Given the description of an element on the screen output the (x, y) to click on. 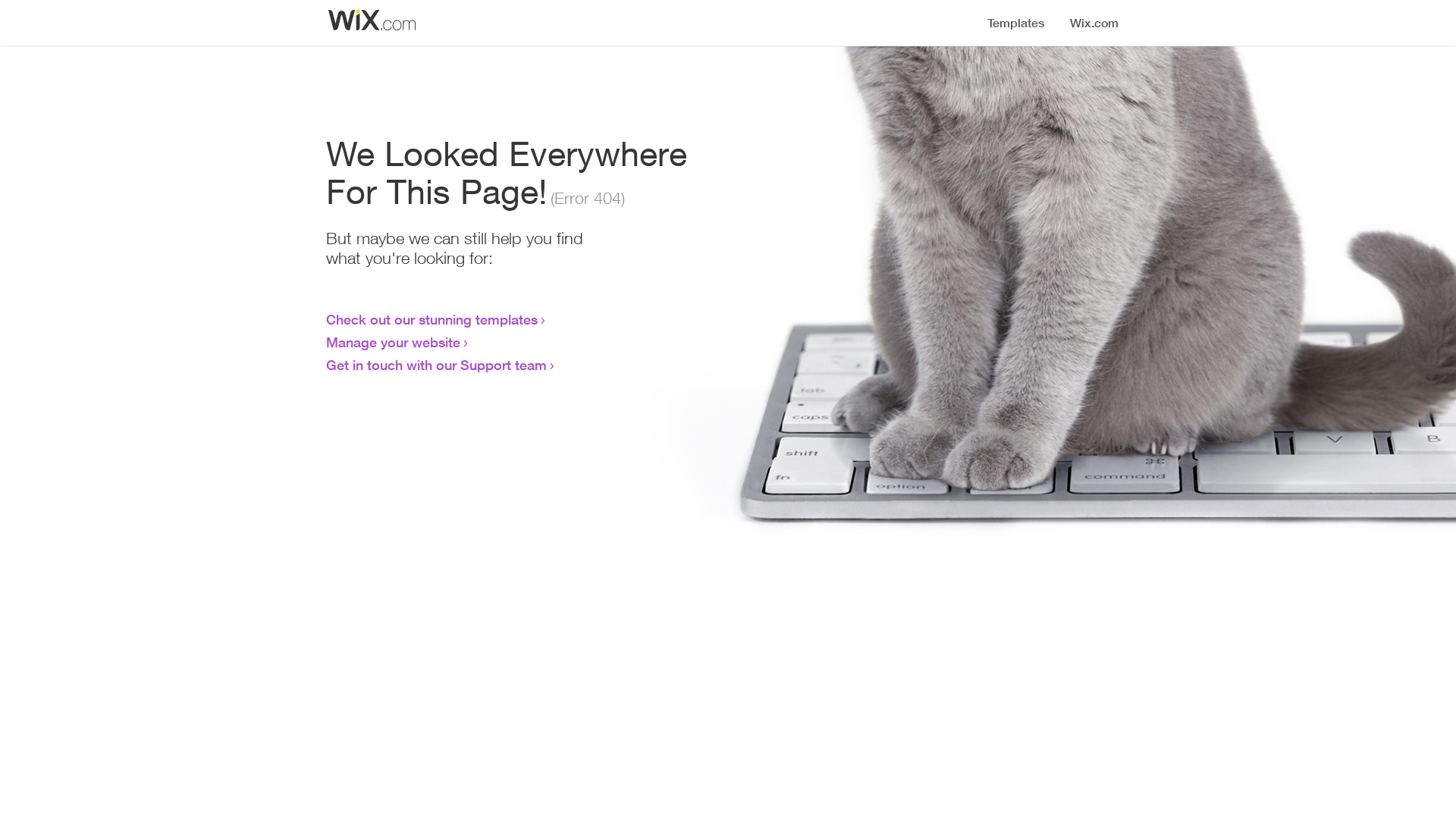
Check out our stunning templates Element type: text (431, 318)
Manage your website Element type: text (393, 341)
Get in touch with our Support team Element type: text (436, 364)
